Given the description of an element on the screen output the (x, y) to click on. 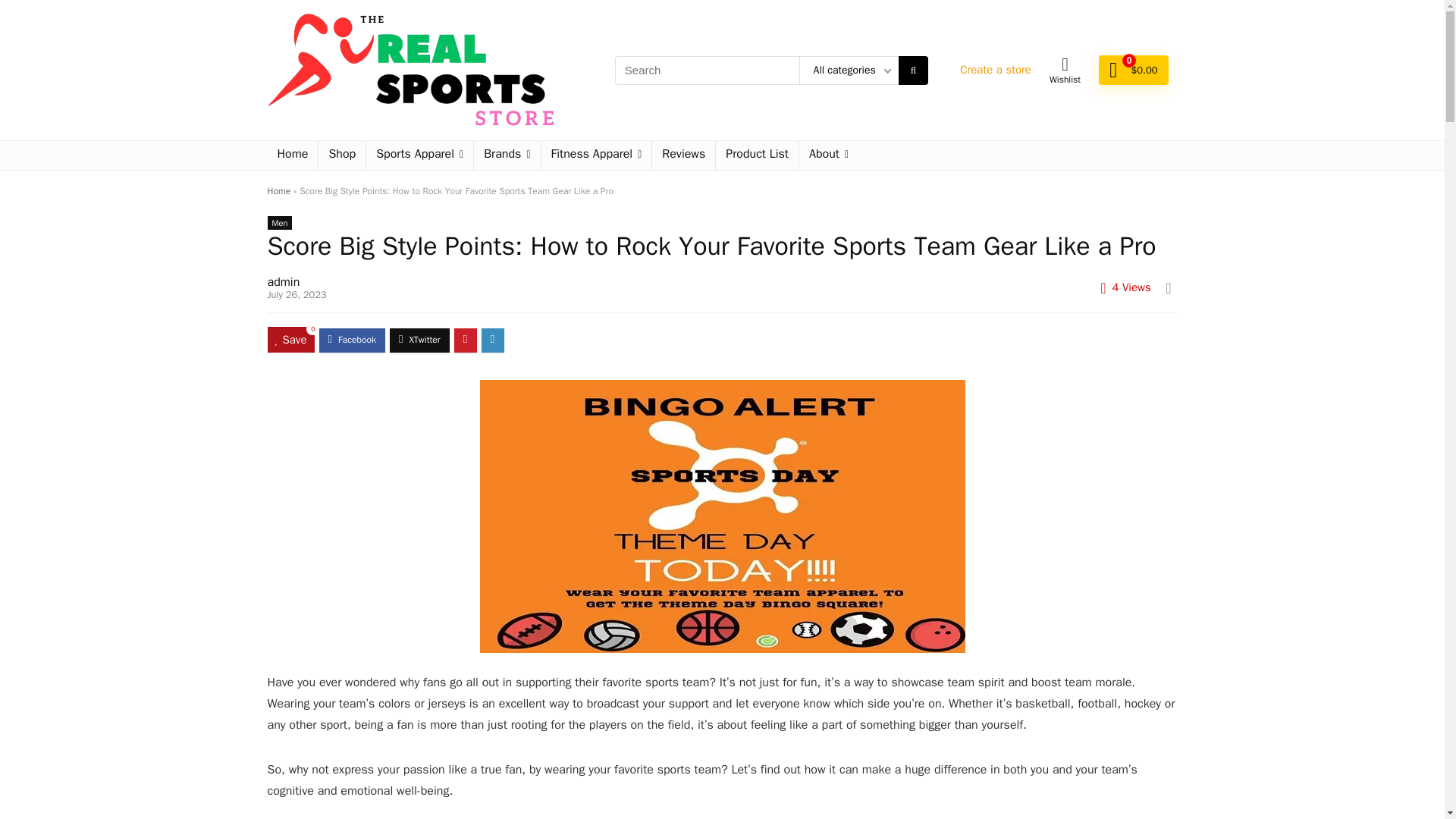
Sports Apparel (419, 154)
View all posts in Men (279, 223)
Create a store (994, 69)
Home (291, 154)
admin (282, 281)
Men (279, 223)
Home (277, 191)
Shop (341, 154)
About (829, 154)
Brands (507, 154)
Reviews (683, 154)
Fitness Apparel (596, 154)
Product List (756, 154)
